Given the description of an element on the screen output the (x, y) to click on. 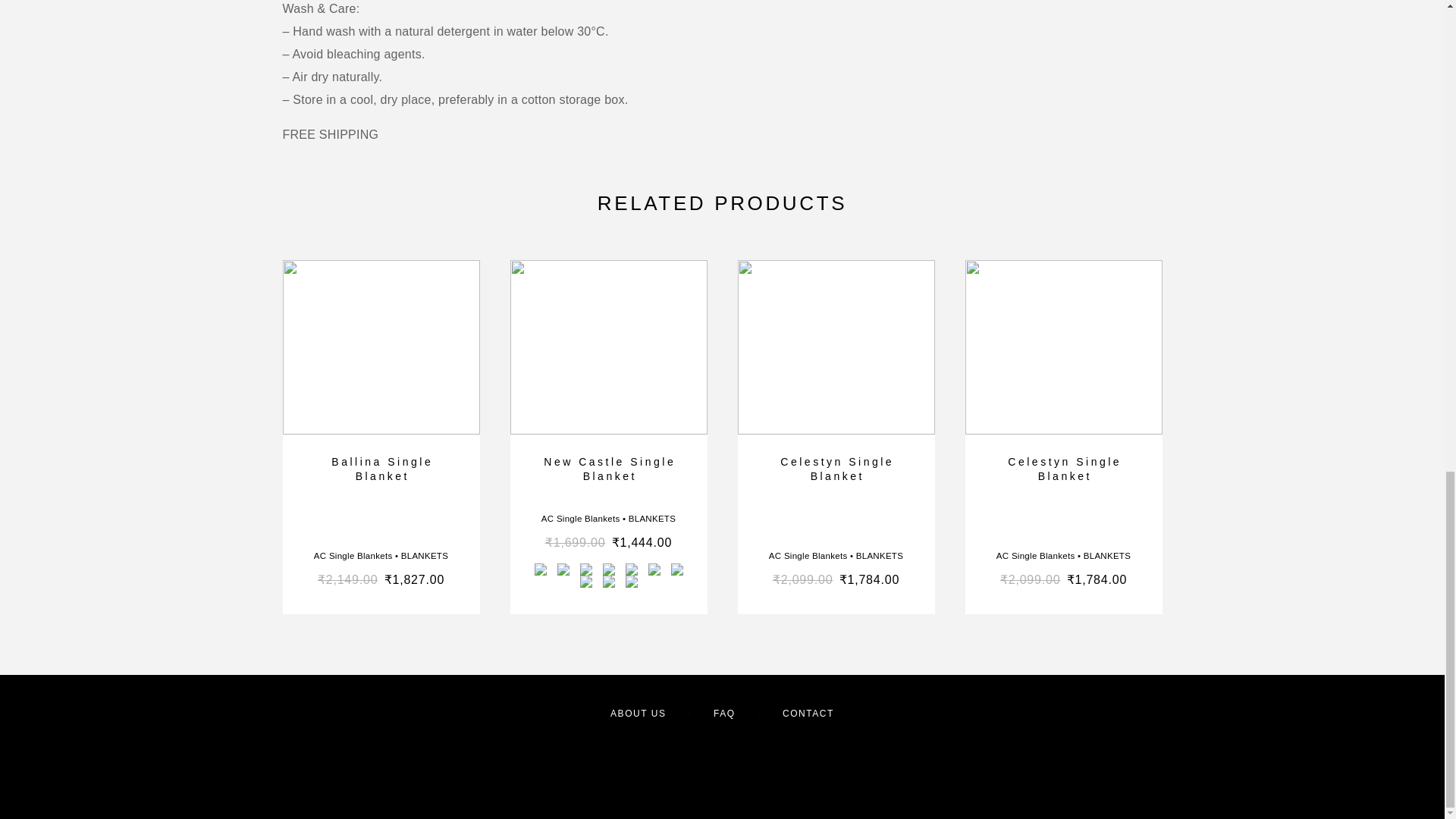
View all posts in BLANKETS (651, 518)
View all posts in BLANKETS (424, 555)
View all posts in AC Single Blankets (353, 555)
View all posts in BLANKETS (879, 555)
View all posts in AC Single Blankets (807, 555)
View all posts in AC Single Blankets (580, 518)
